Given the description of an element on the screen output the (x, y) to click on. 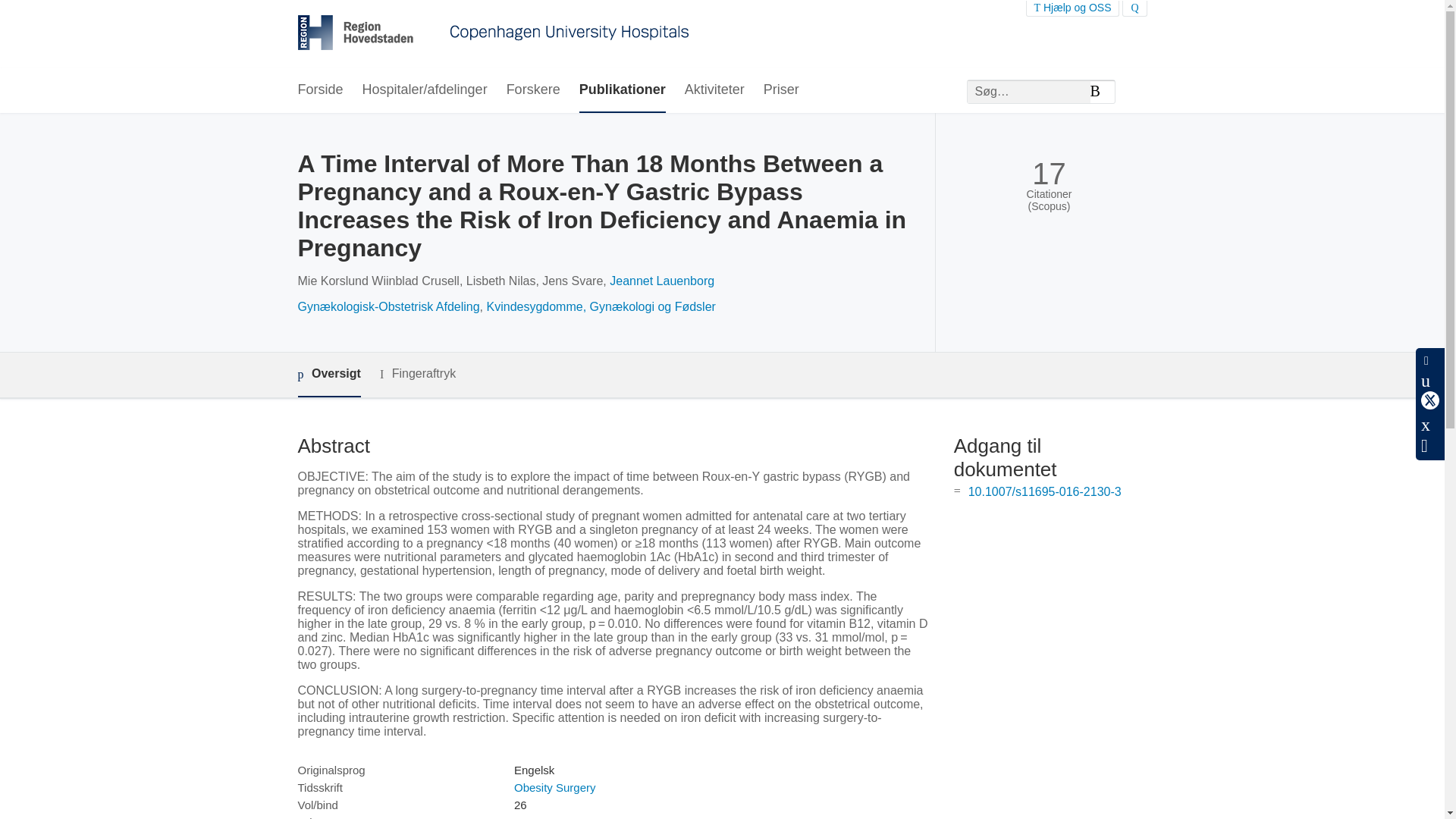
Oversigt (328, 374)
Forside (319, 90)
Aktiviteter (714, 90)
Region Hovedstadens forskningsportal Forside (492, 34)
Forskere (533, 90)
Fingeraftryk (417, 373)
Obesity Surgery (554, 787)
Jeannet Lauenborg (662, 280)
Publikationer (622, 90)
